Given the description of an element on the screen output the (x, y) to click on. 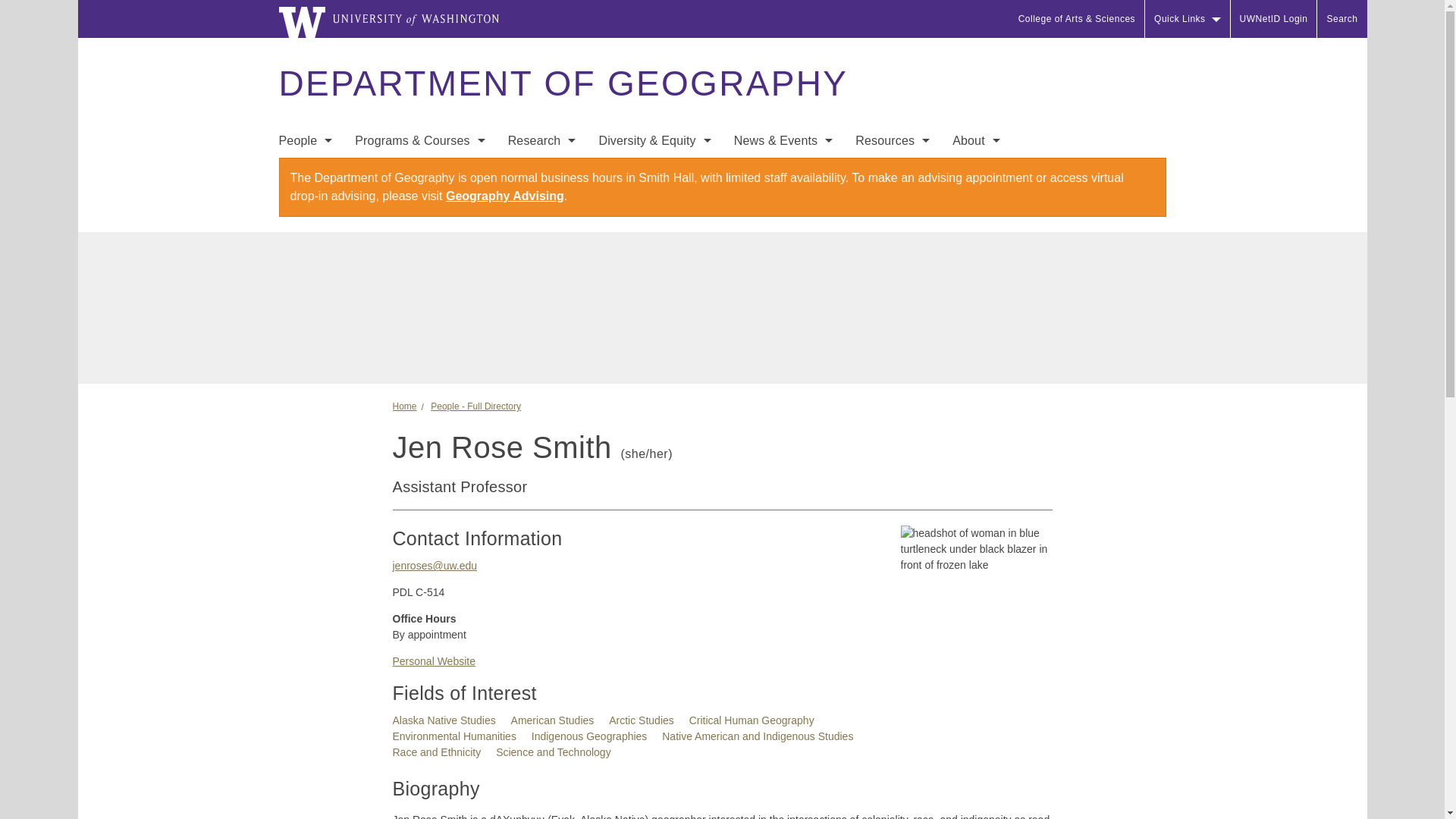
Department of Geography Home (562, 83)
Graduate Students (304, 233)
Courses (419, 233)
Search (1342, 18)
UWNetID Login (1273, 18)
Alumni (304, 263)
Staff (304, 203)
Faculty (304, 173)
Graduate (419, 203)
